Given the description of an element on the screen output the (x, y) to click on. 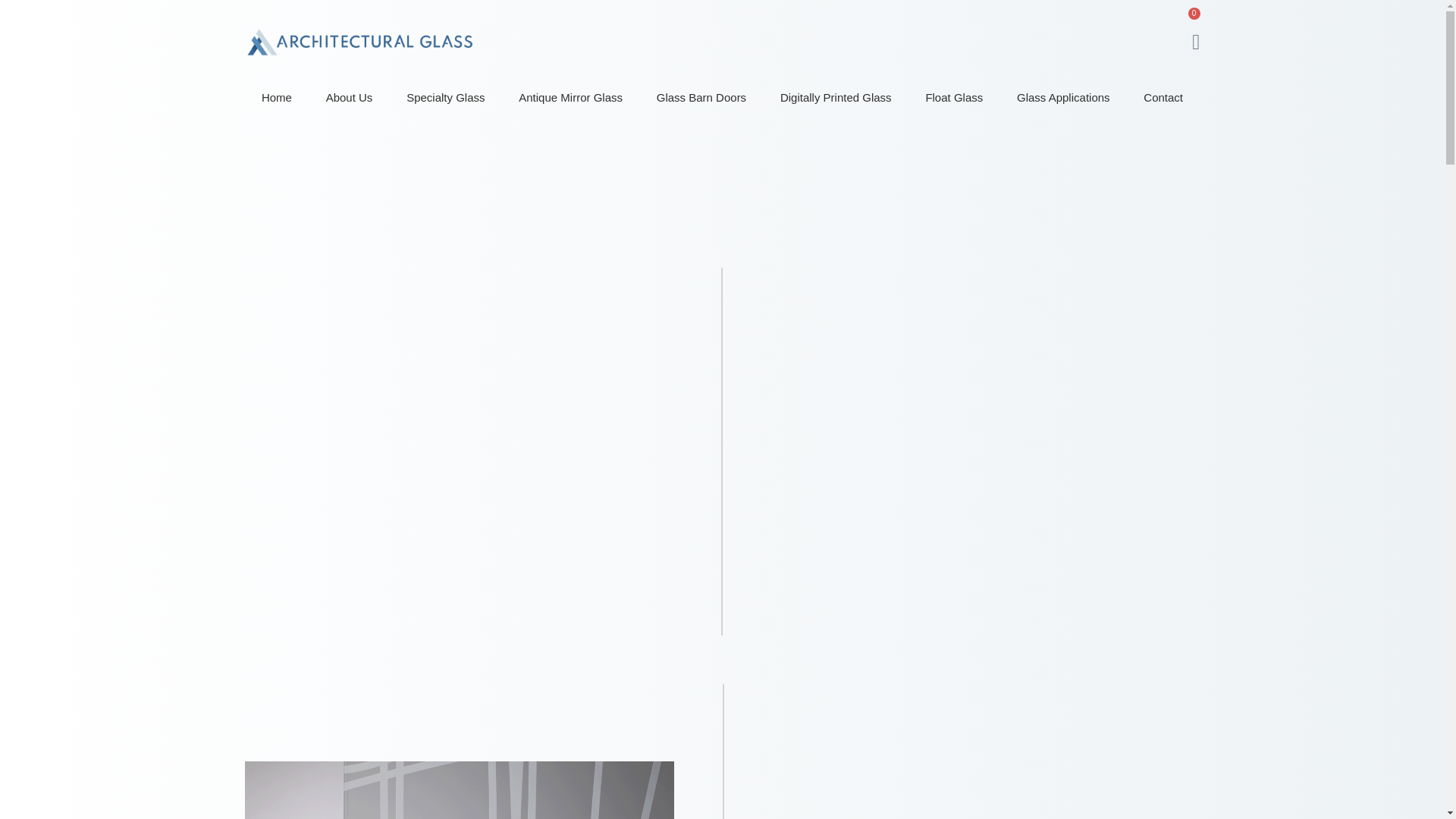
About Us (348, 97)
Glass Barn Doors (700, 97)
Antique Mirror Glass (570, 97)
Float Glass (954, 97)
Specialty Glass (446, 97)
Digitally Printed Glass (835, 97)
Home (276, 97)
Contact (1162, 97)
Glass Applications (1063, 97)
